Given the description of an element on the screen output the (x, y) to click on. 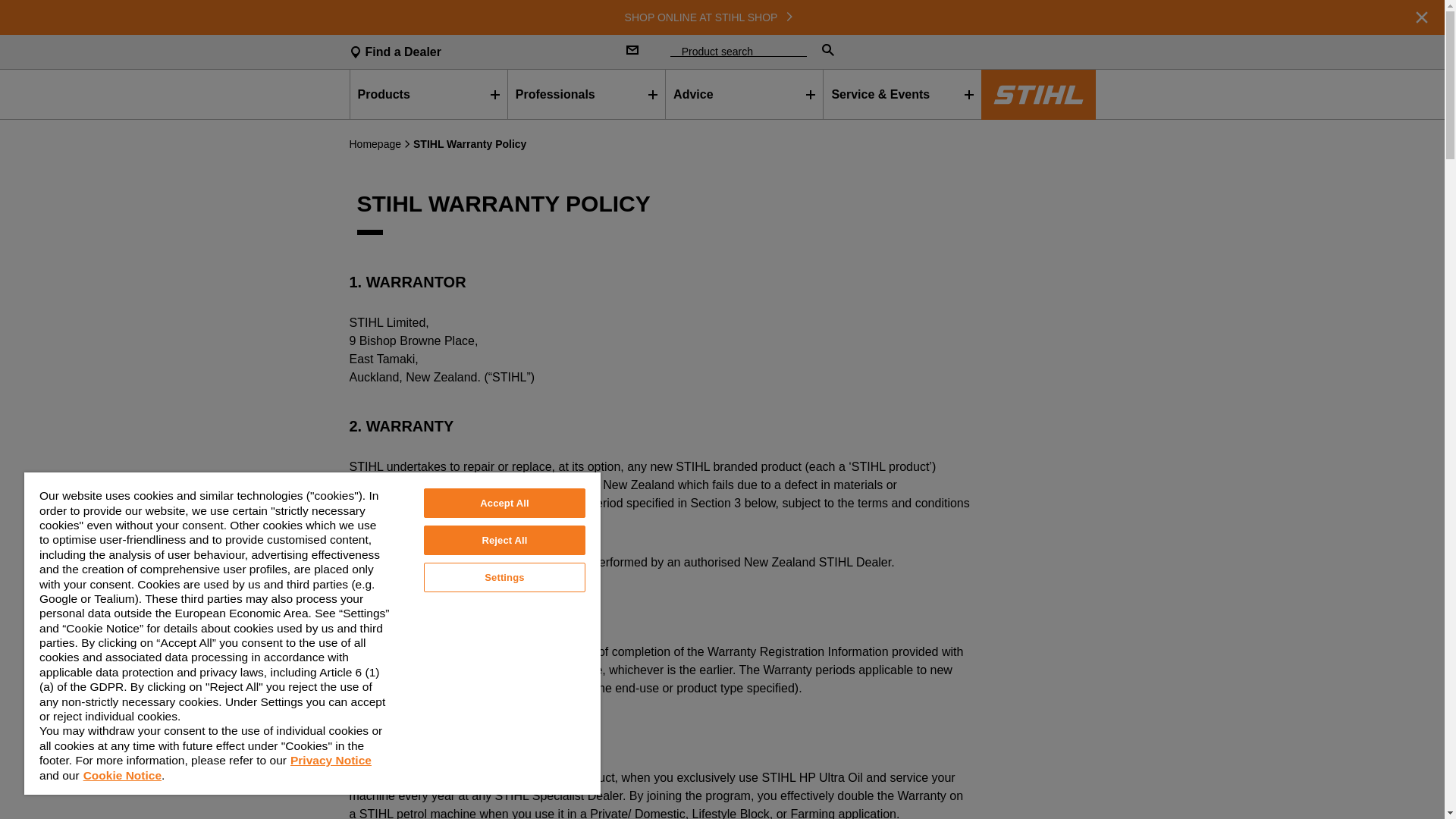
Products (428, 93)
Professionals (586, 93)
SHOP ONLINE AT STIHL SHOP (721, 17)
Find a Dealer (475, 51)
Advice (743, 93)
